Given the description of an element on the screen output the (x, y) to click on. 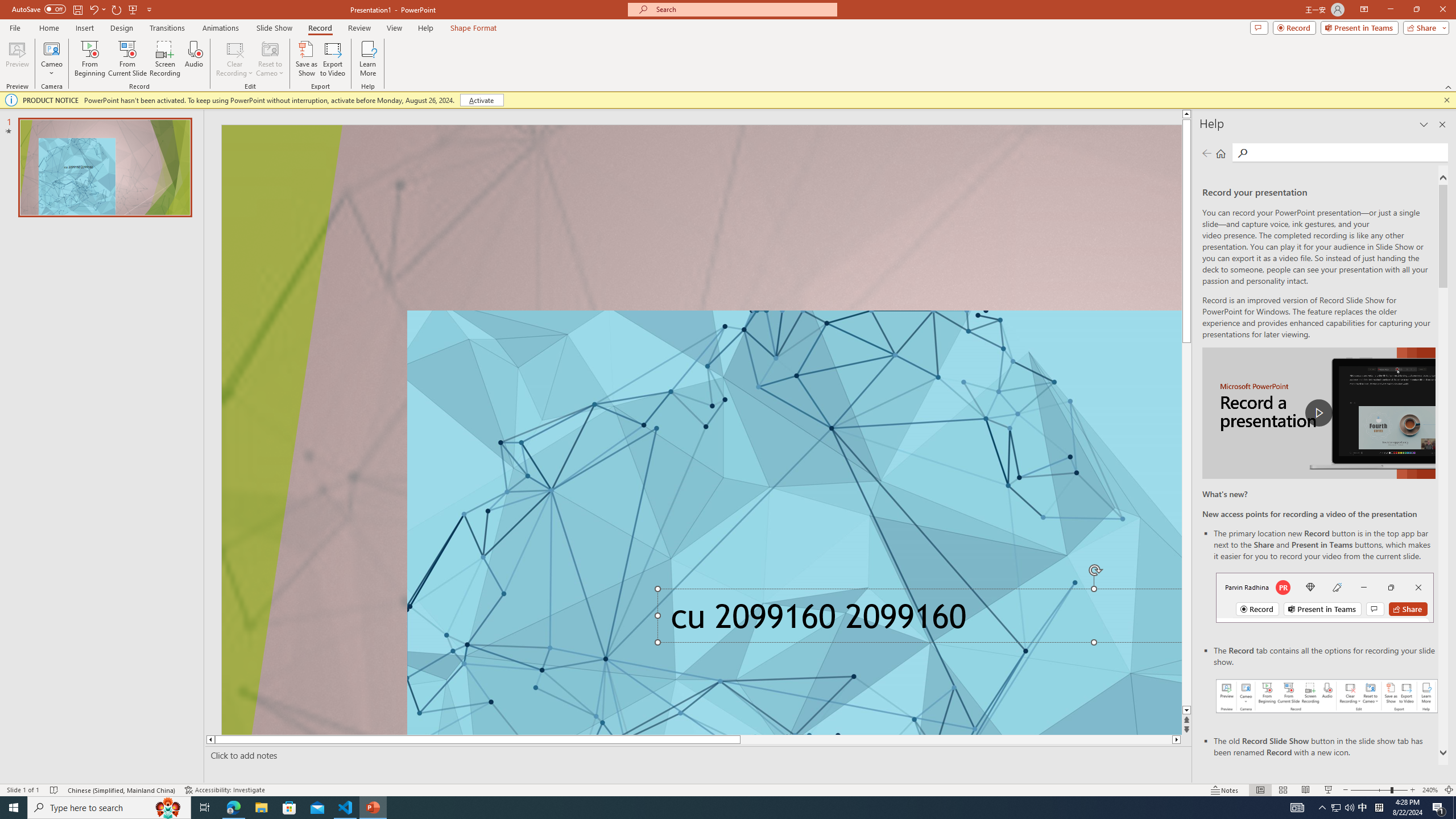
Slide Show (1328, 790)
Undo (92, 9)
Close pane (1441, 124)
Restore Down (1416, 9)
Zoom to Fit  (1449, 790)
Search (1241, 152)
Redo (117, 9)
Design (122, 28)
Comments (1259, 27)
Notes  (1225, 790)
Zoom Out (1370, 790)
Customize Quick Access Toolbar (149, 9)
Ribbon Display Options (1364, 9)
